Given the description of an element on the screen output the (x, y) to click on. 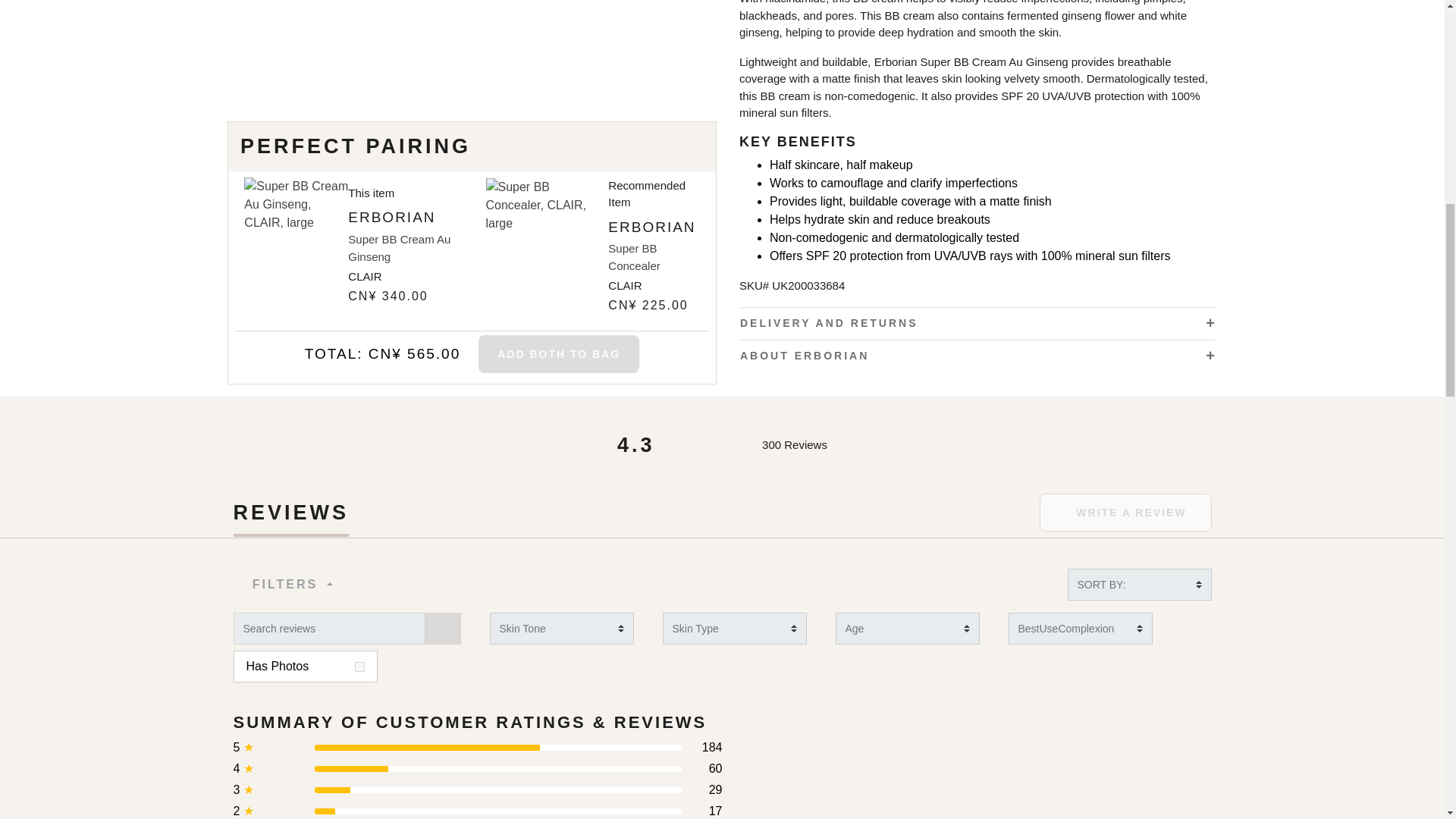
on (360, 665)
